Given the description of an element on the screen output the (x, y) to click on. 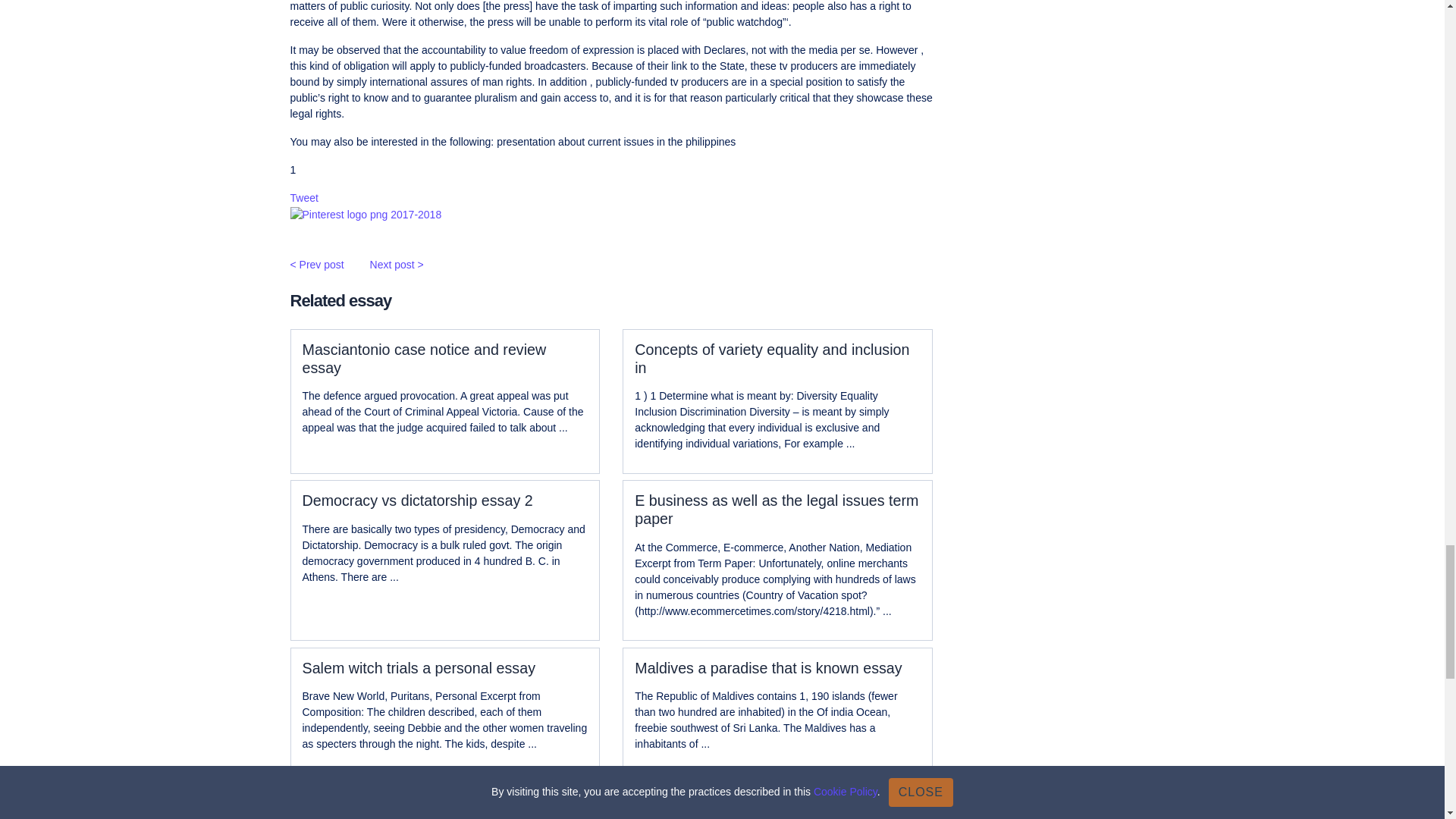
Tweet (303, 197)
